Given the description of an element on the screen output the (x, y) to click on. 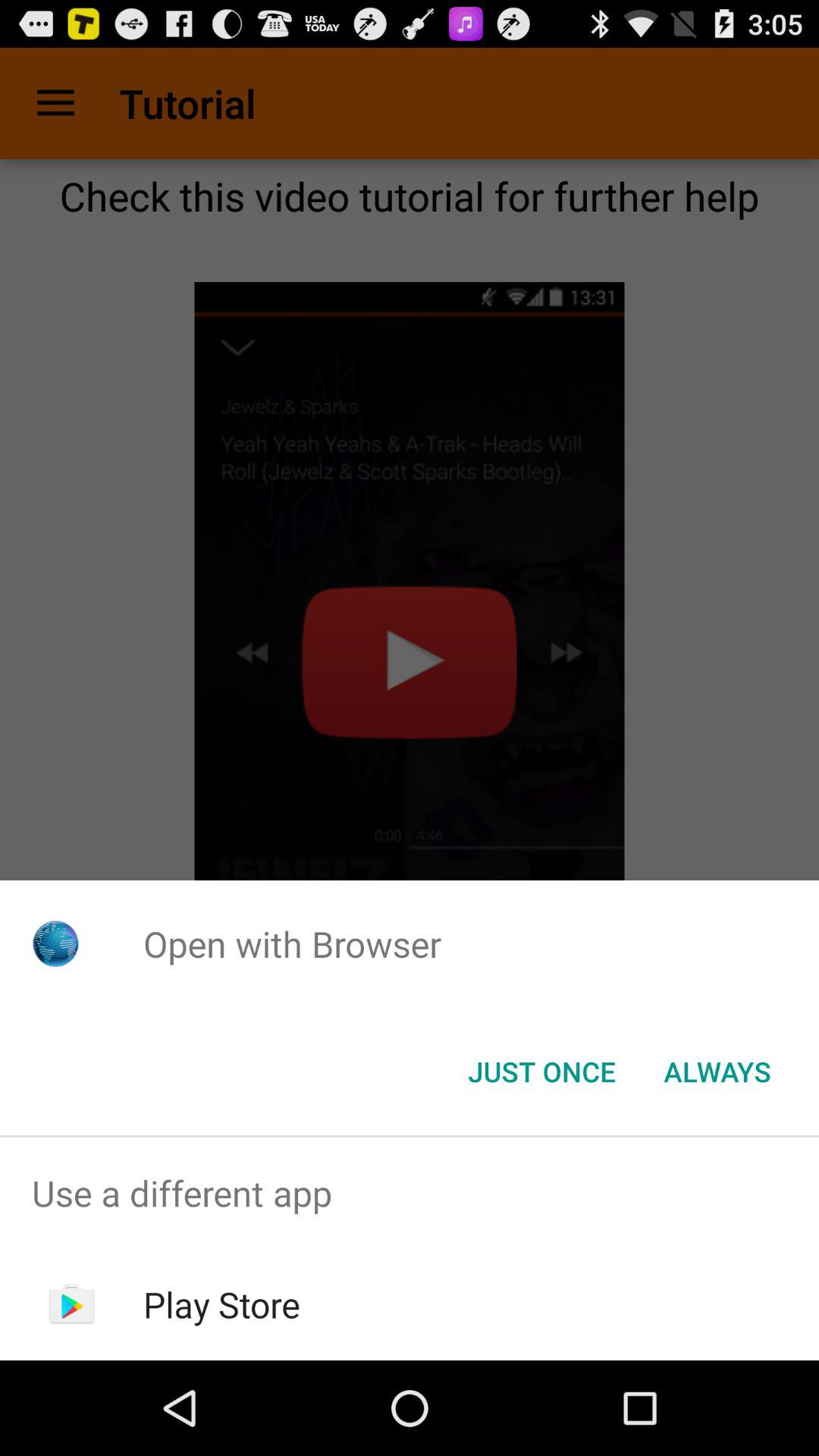
click icon at the bottom right corner (717, 1071)
